Given the description of an element on the screen output the (x, y) to click on. 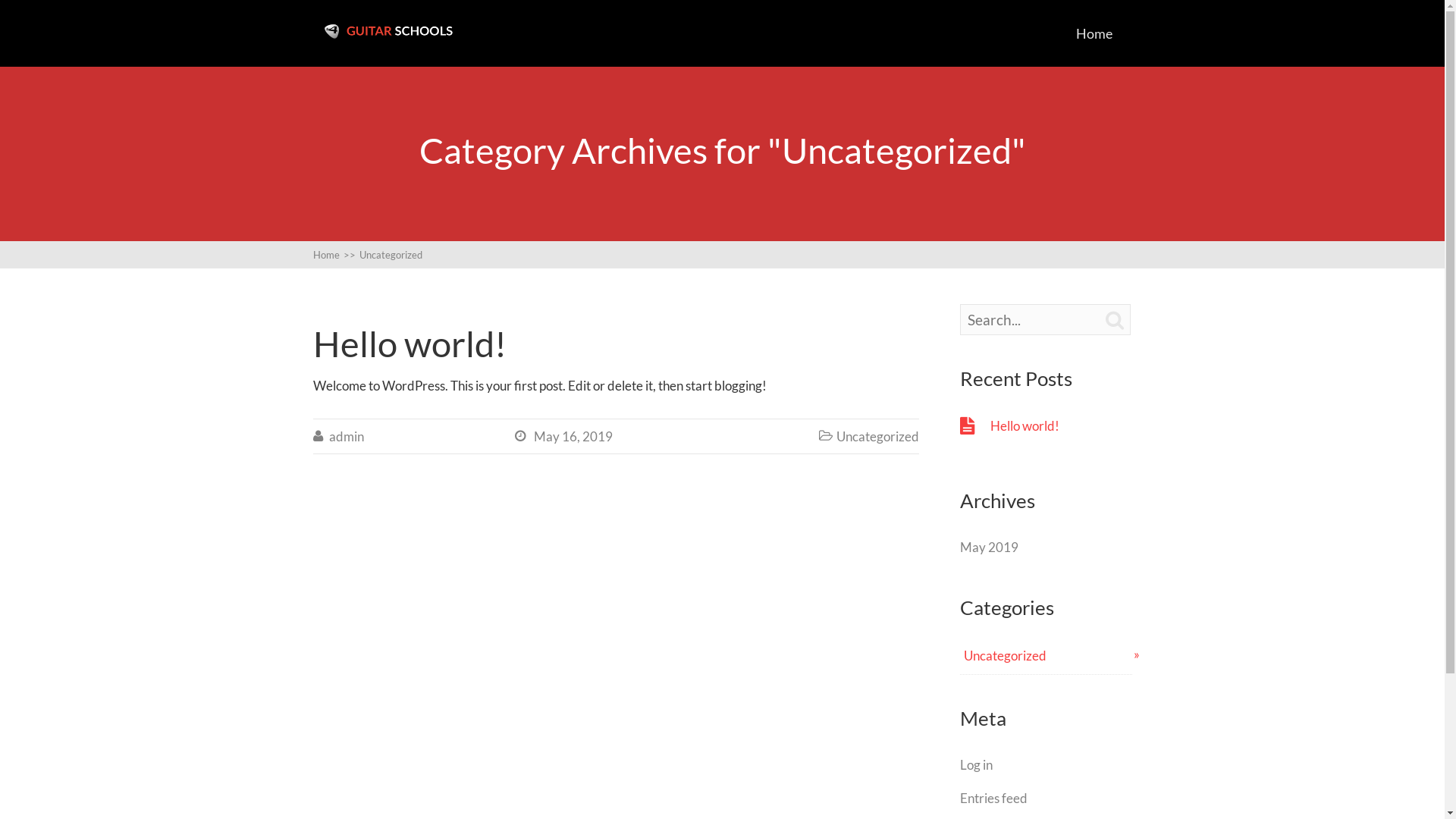
Log in Element type: text (976, 764)
Home >> Element type: text (335, 254)
Uncategorized Element type: text (1049, 655)
admin Element type: text (346, 436)
Hello world! Element type: text (408, 343)
Entries feed Element type: text (993, 798)
Home Element type: text (1094, 33)
Hello world! Element type: text (1061, 425)
Uncategorized Element type: text (877, 436)
May 2019 Element type: text (989, 547)
